Given the description of an element on the screen output the (x, y) to click on. 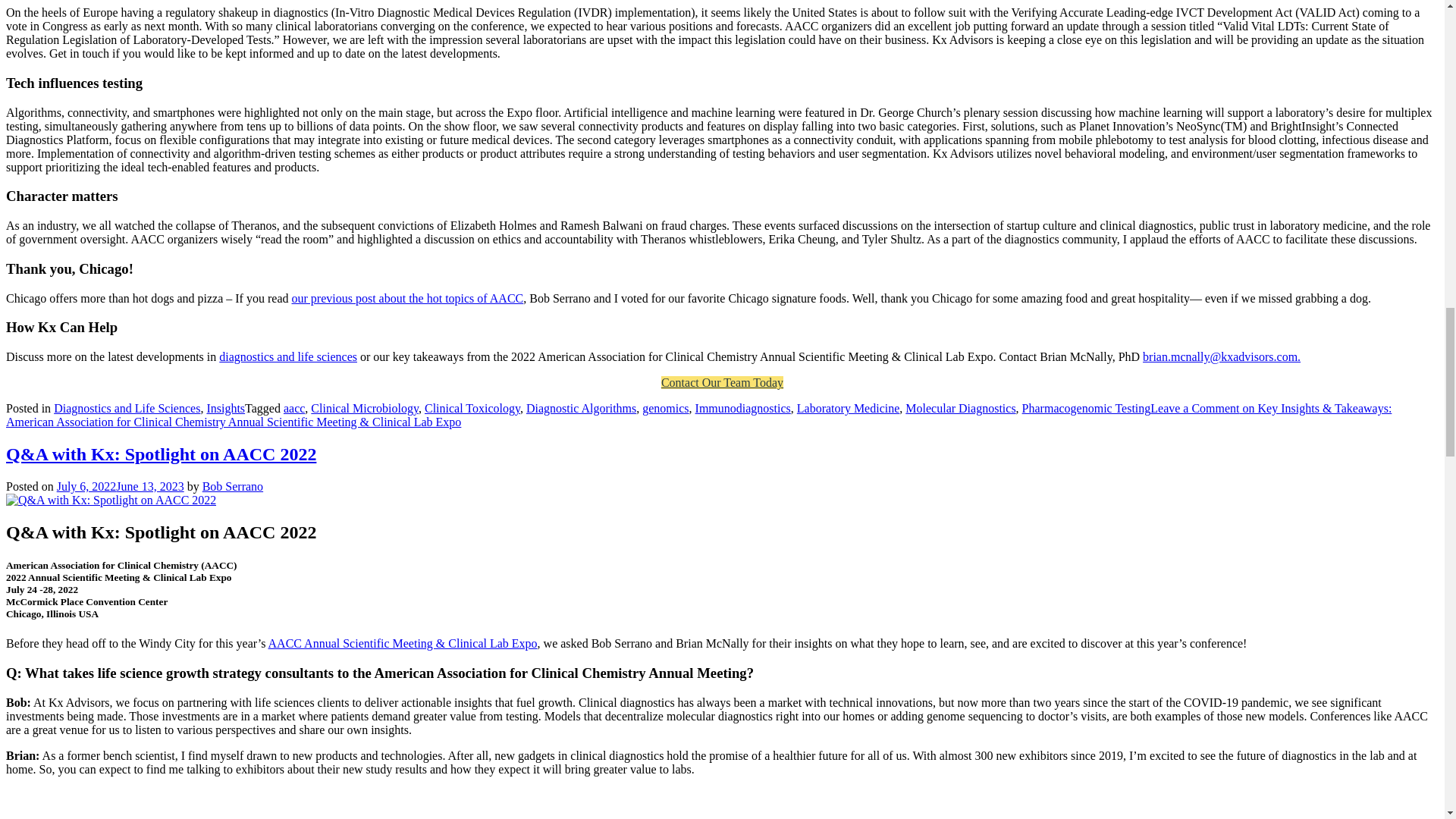
diagnostics and life sciences (287, 356)
Contact Our Team Today (722, 382)
our previous post about the hot topics of AACC (406, 297)
